Given the description of an element on the screen output the (x, y) to click on. 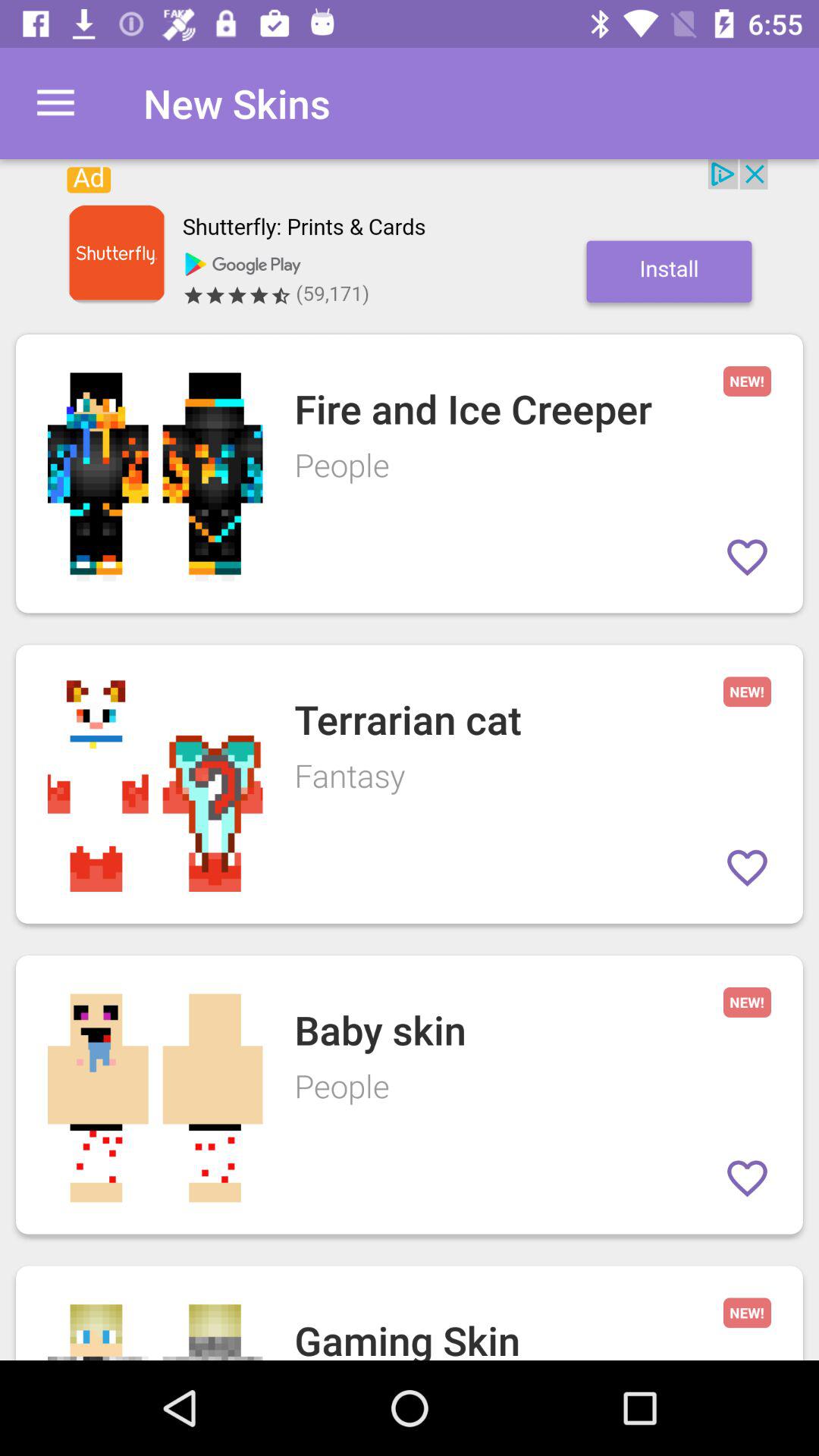
added to favourites (747, 867)
